Given the description of an element on the screen output the (x, y) to click on. 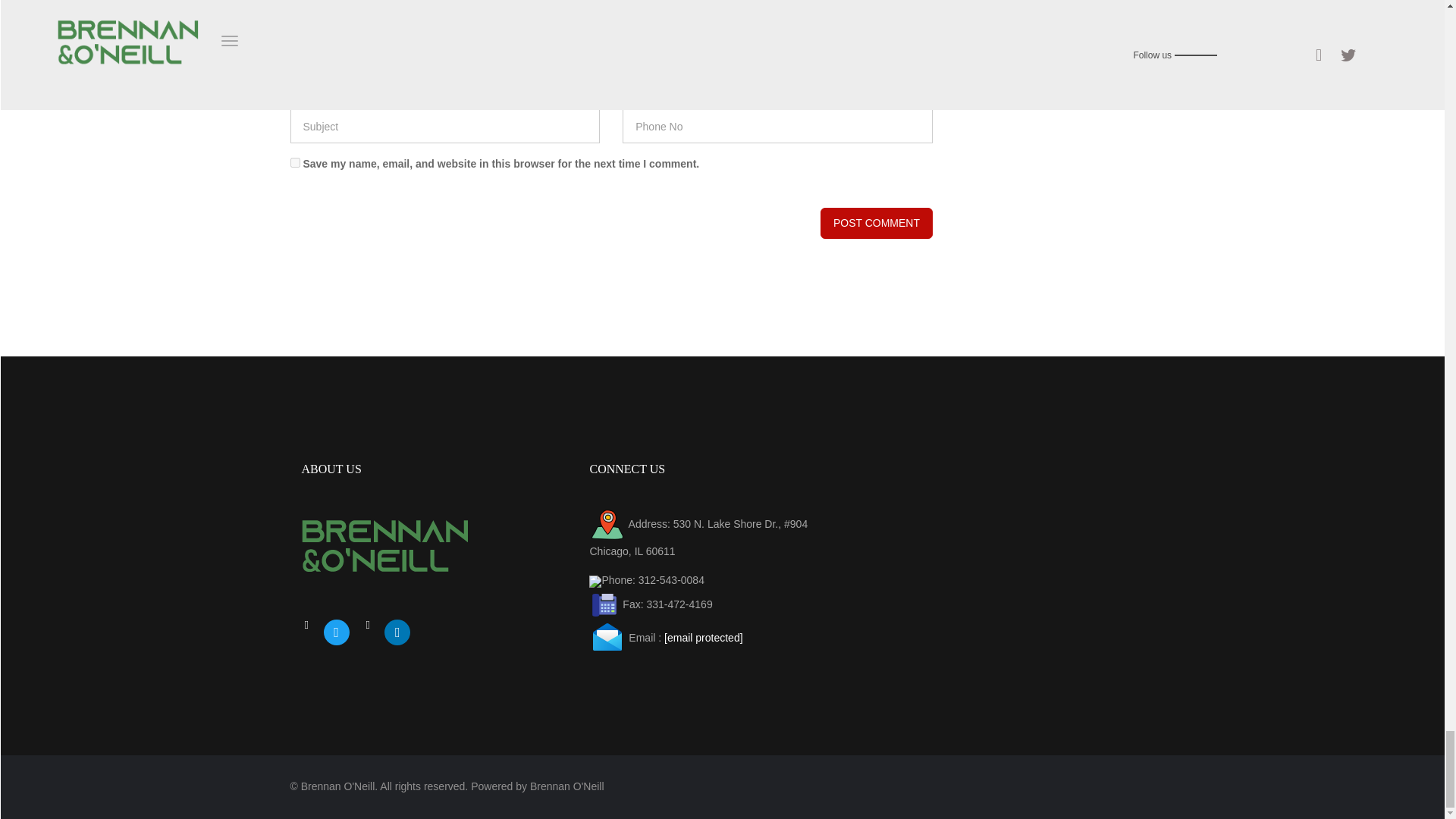
linkedin (397, 630)
twitter (336, 630)
Post Comment (877, 223)
Post Comment (877, 223)
yes (294, 162)
